Given the description of an element on the screen output the (x, y) to click on. 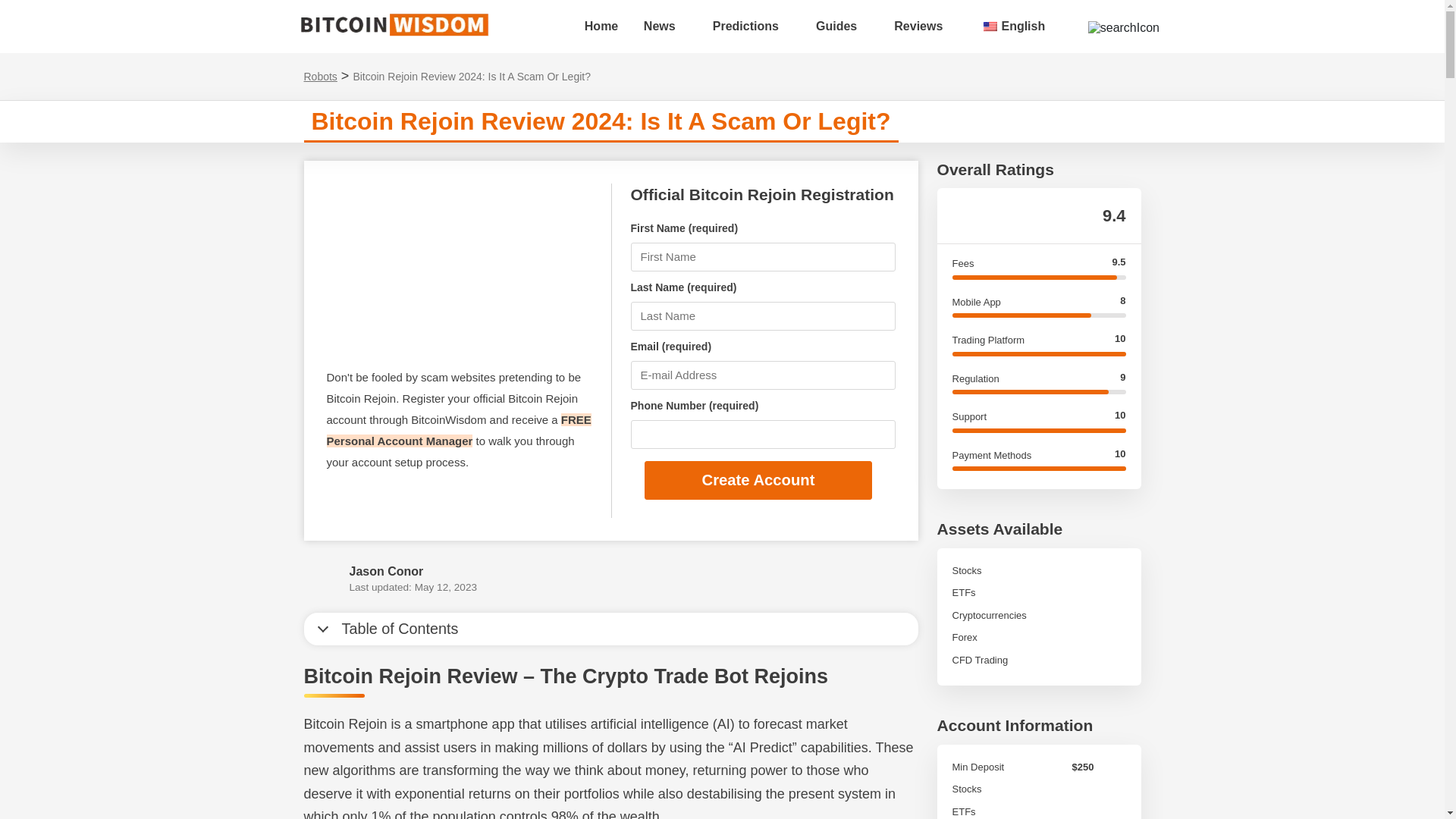
English (990, 26)
Table of Contents (609, 629)
